Given the description of an element on the screen output the (x, y) to click on. 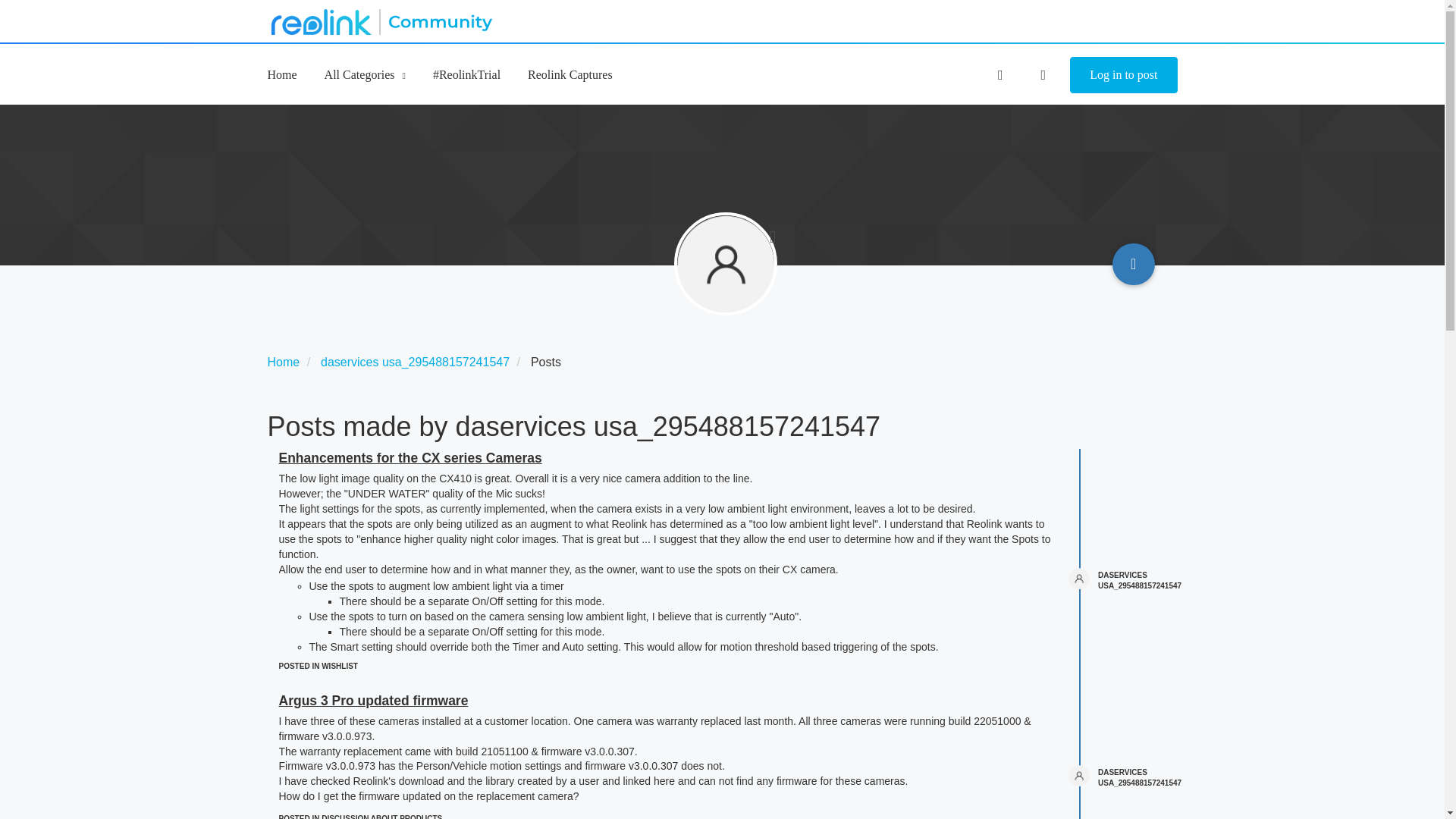
Reolink Captures (569, 74)
Log in to post (1123, 75)
All Categories (365, 74)
Enhancements for the CX series Cameras (410, 458)
POSTED IN WISHLIST (318, 665)
Home (281, 74)
Home (282, 361)
